Given the description of an element on the screen output the (x, y) to click on. 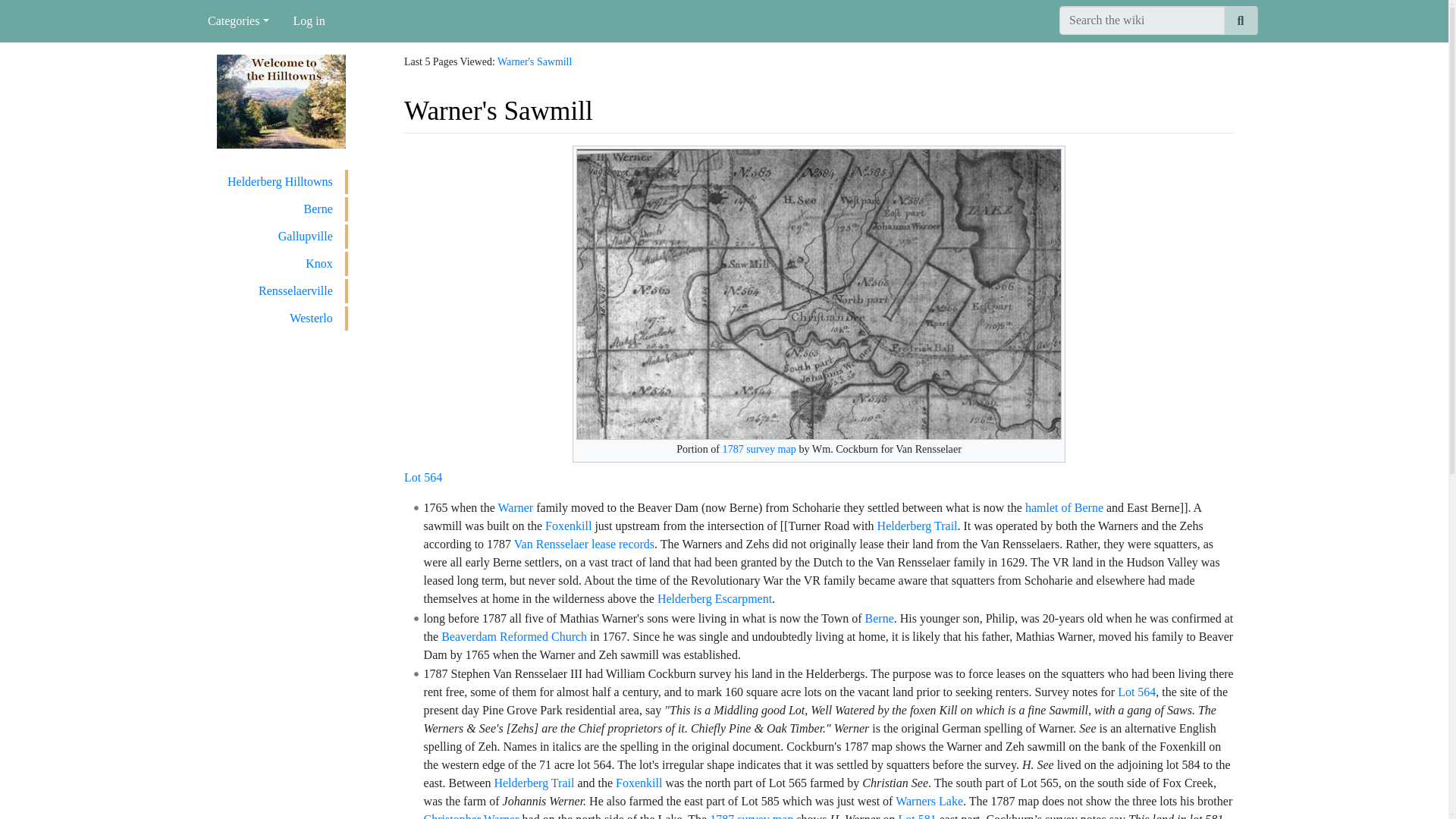
Helderberg Escarpment (714, 598)
Go to a page with this exact name if it exists (1240, 20)
Lot 564 (423, 477)
Beaverdam Reformed Church (513, 635)
Helderberg Trail (533, 782)
Lot 564 (1137, 691)
Foxenkill (638, 782)
Van Rensselaer lease records (583, 543)
Visit the main page (281, 100)
Westerlo (281, 318)
